Given the description of an element on the screen output the (x, y) to click on. 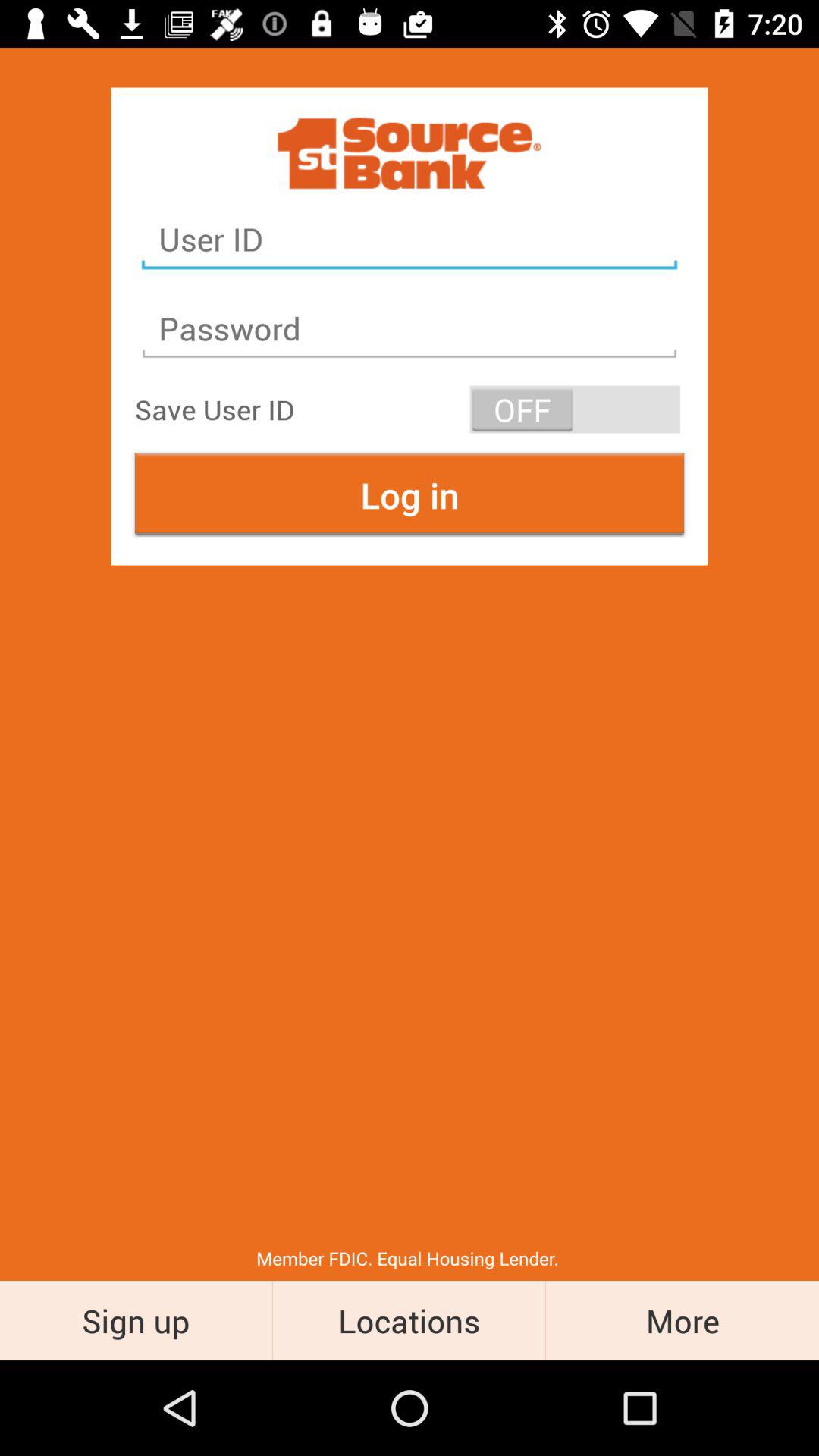
swipe until the sign up icon (136, 1320)
